Given the description of an element on the screen output the (x, y) to click on. 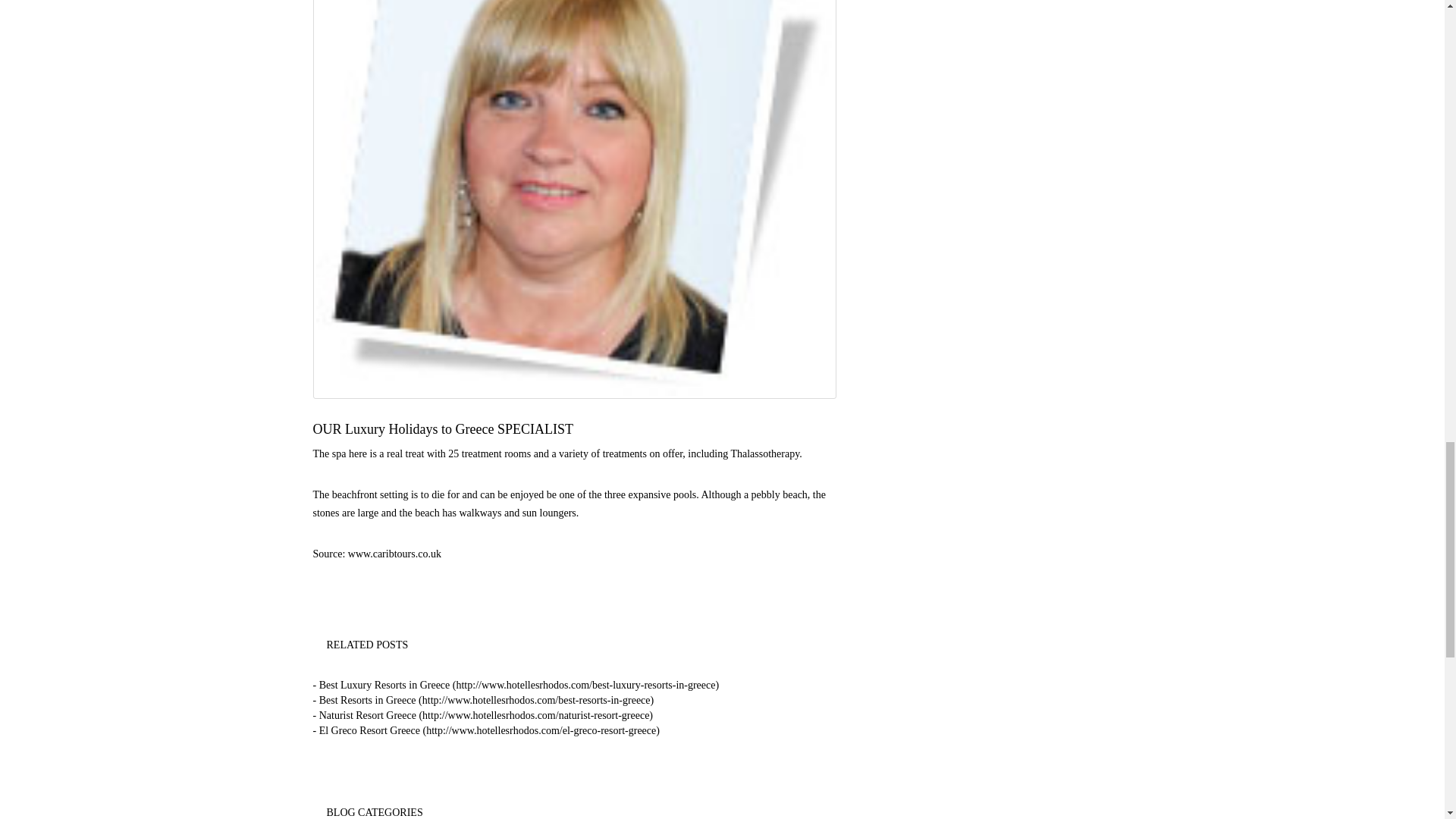
- Best Resorts in Greece (483, 699)
- Naturist Resort Greece (482, 715)
- El Greco Resort Greece (486, 730)
- Best Luxury Resorts in Greece (516, 685)
